Given the description of an element on the screen output the (x, y) to click on. 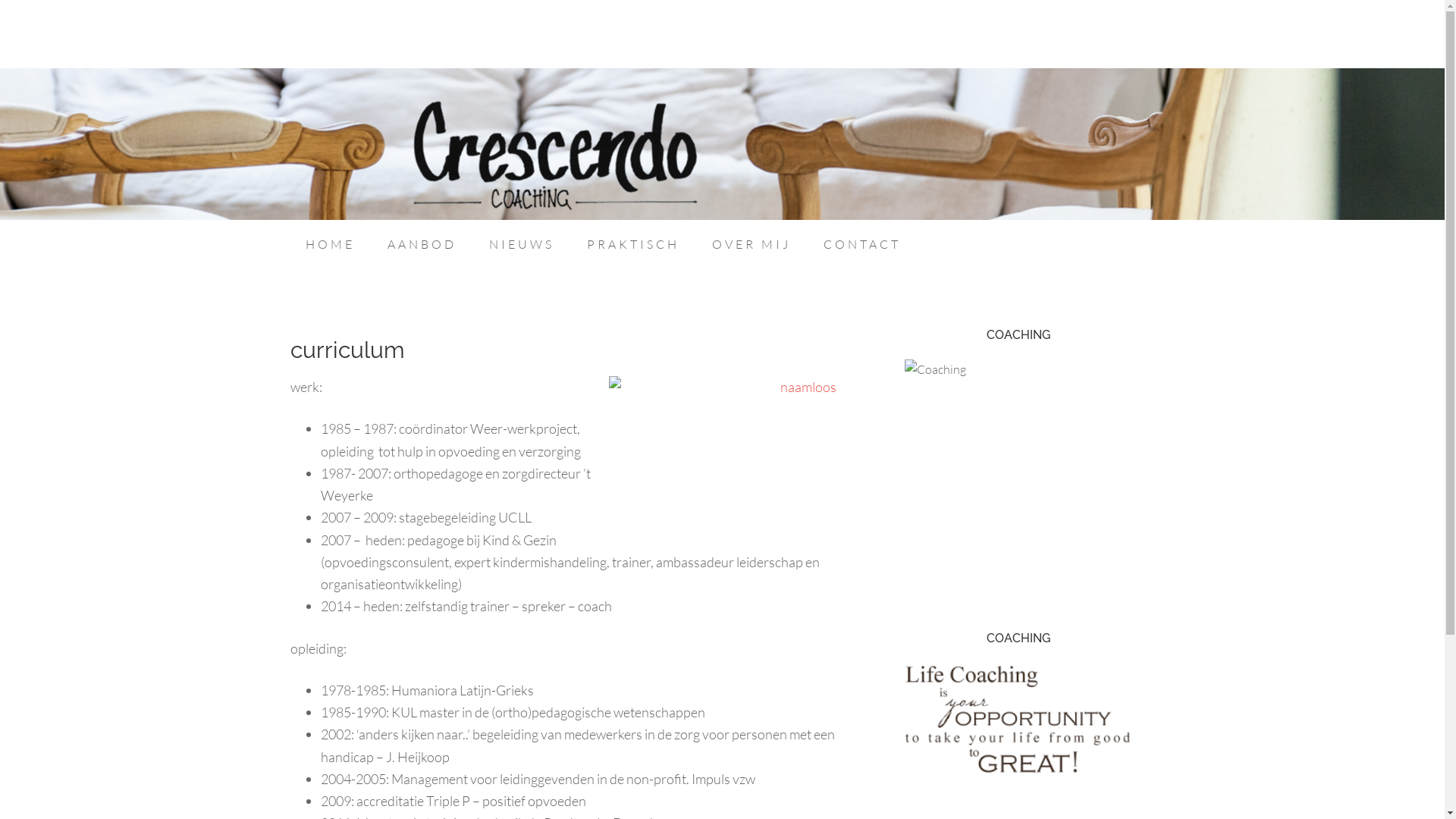
OVER MIJ Element type: text (750, 243)
CONTACT Element type: text (862, 243)
HOME Element type: text (329, 243)
AANBOD Element type: text (420, 243)
PRAKTISCH Element type: text (632, 243)
NIEUWS Element type: text (520, 243)
